Given the description of an element on the screen output the (x, y) to click on. 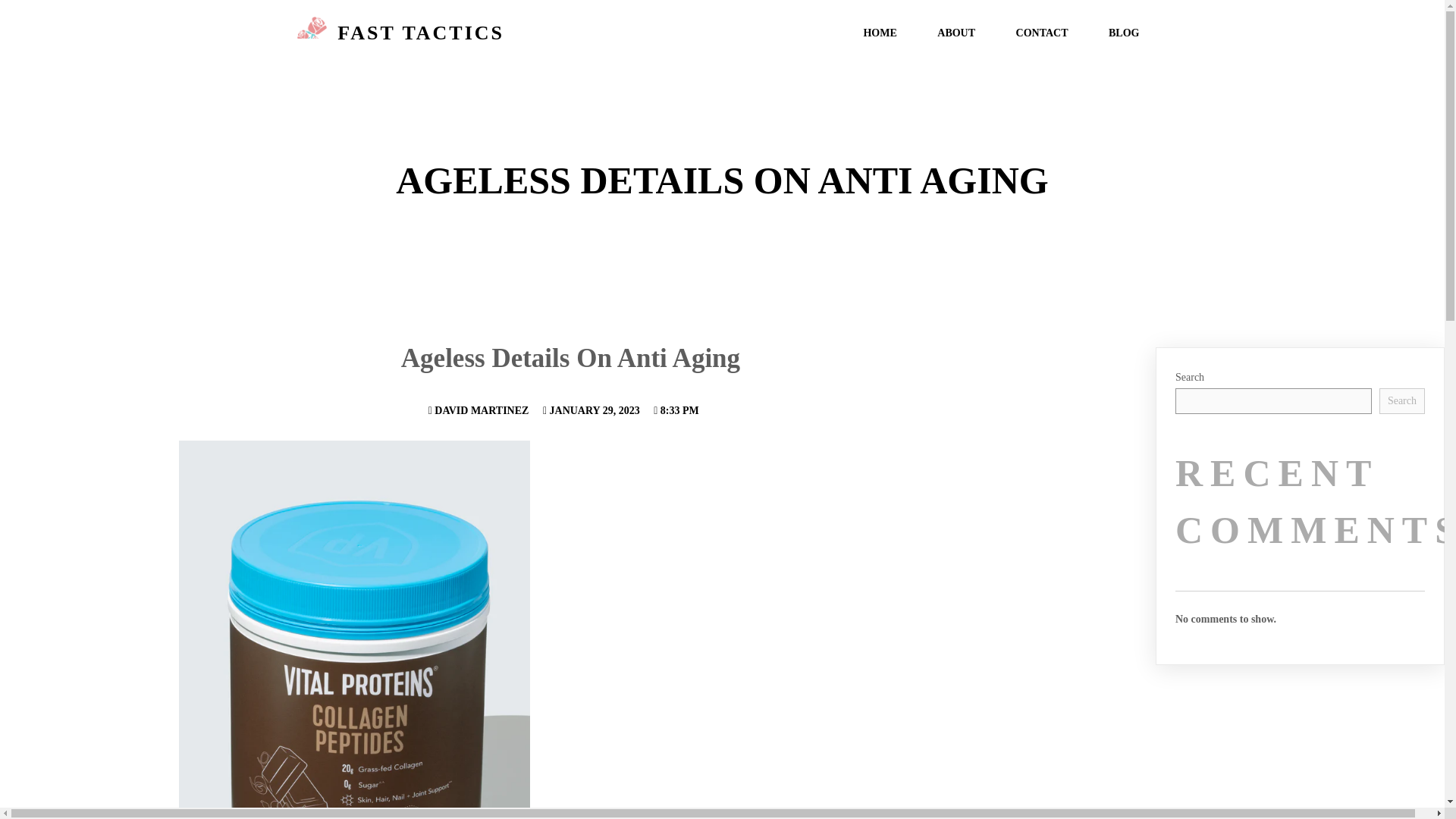
logo (311, 32)
FAST TACTICS (500, 32)
HOME (879, 33)
Search (1401, 401)
CONTACT (1042, 33)
8:33 PM (675, 410)
ABOUT (956, 33)
JANUARY 29, 2023 (591, 410)
DAVID MARTINEZ (478, 410)
BLOG (1123, 33)
